Given the description of an element on the screen output the (x, y) to click on. 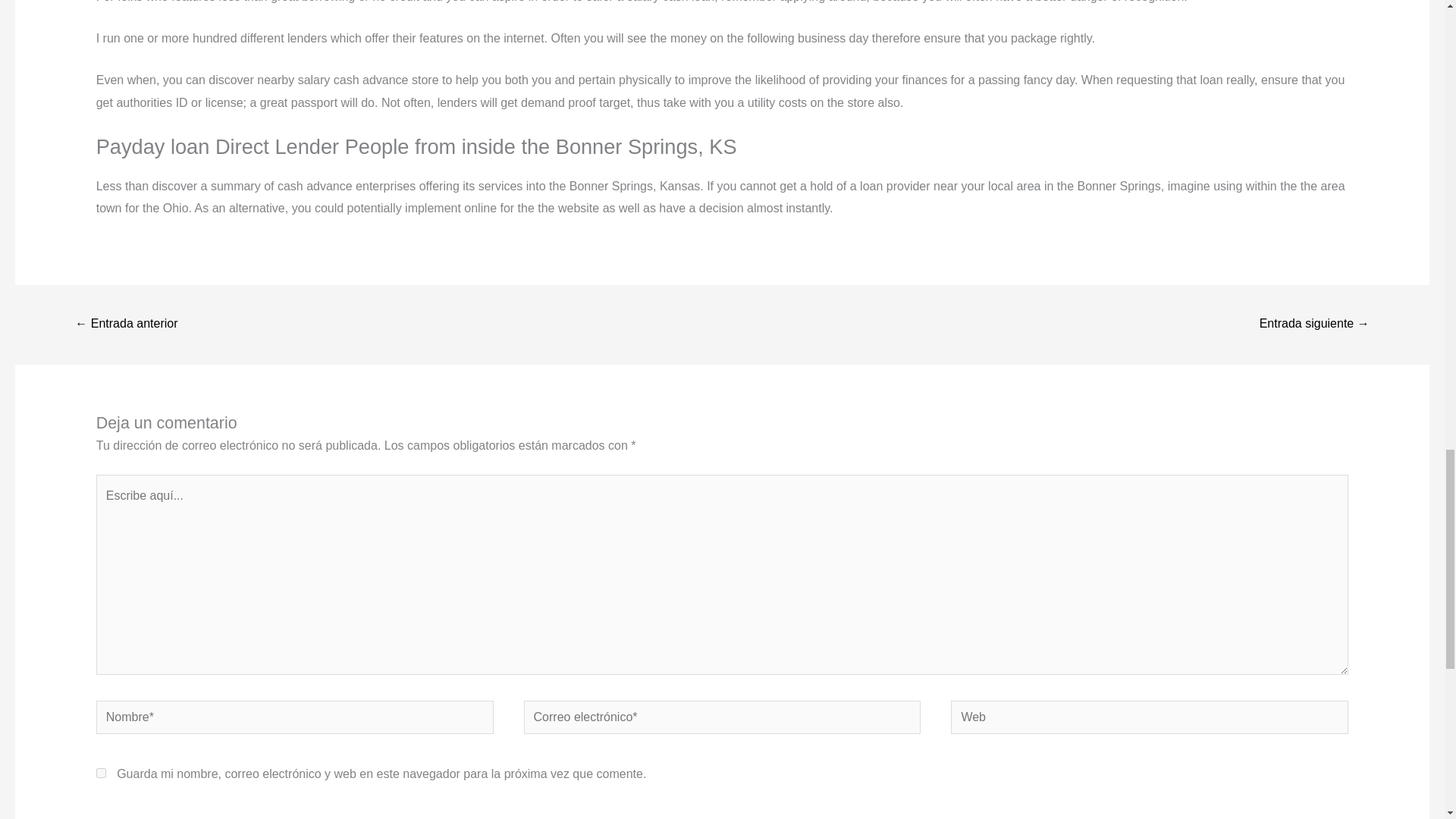
yes (101, 773)
